Given the description of an element on the screen output the (x, y) to click on. 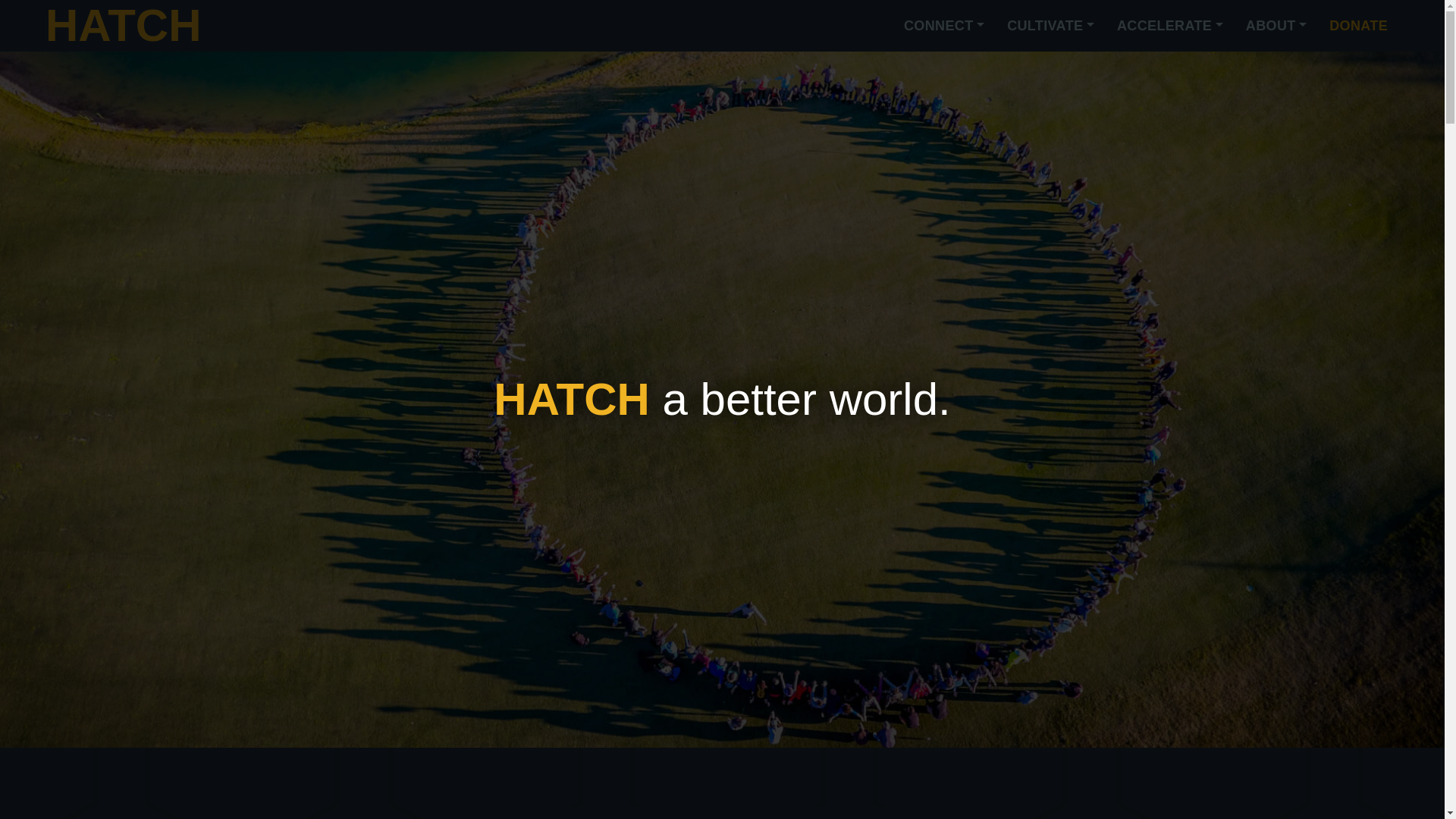
About (1275, 25)
ACCELERATE (1169, 25)
Cultivate (1050, 25)
CULTIVATE (1050, 25)
CONNECT (943, 25)
Accelerate (1169, 25)
Connect (943, 25)
DONATE (1358, 25)
HATCH (123, 25)
DONATE (1358, 25)
